Given the description of an element on the screen output the (x, y) to click on. 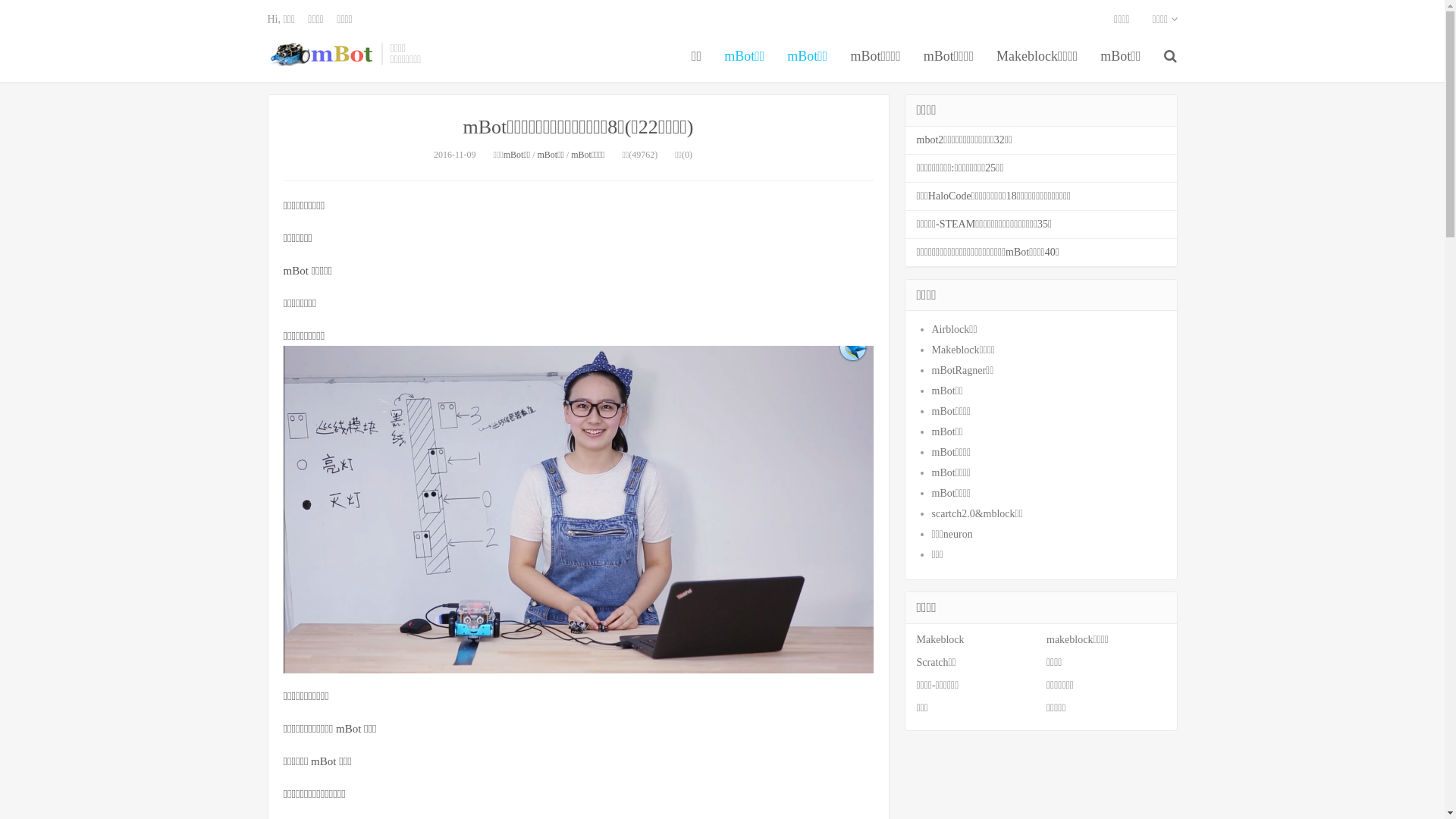
Makeblock Element type: text (939, 639)
